Given the description of an element on the screen output the (x, y) to click on. 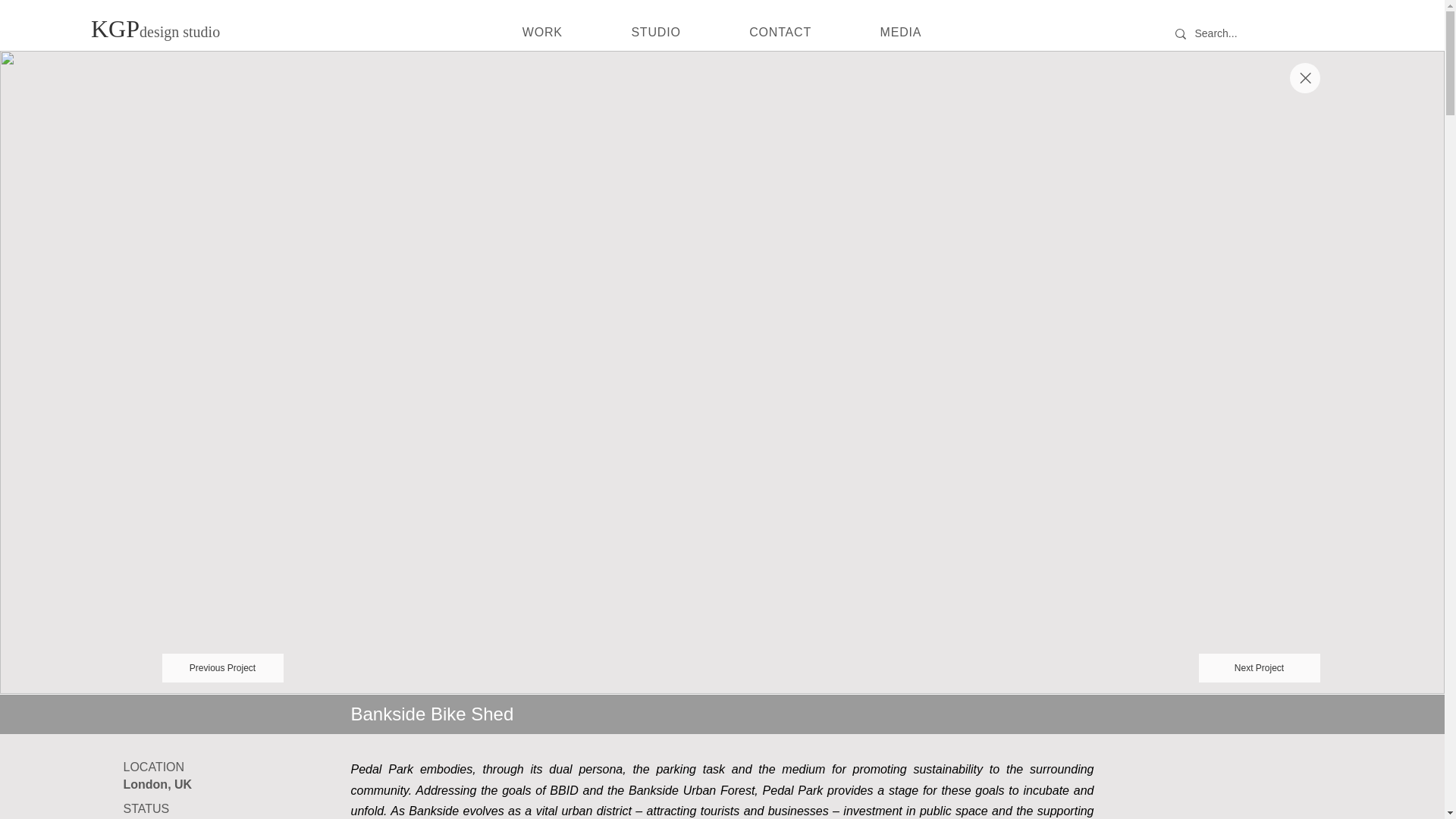
Previous Project (222, 667)
WORK (543, 32)
KGP (114, 28)
design studio (179, 31)
CONTACT (780, 32)
Bankside Bike Shed (431, 713)
Next Project (1258, 667)
MEDIA (900, 32)
STUDIO (655, 32)
